Given the description of an element on the screen output the (x, y) to click on. 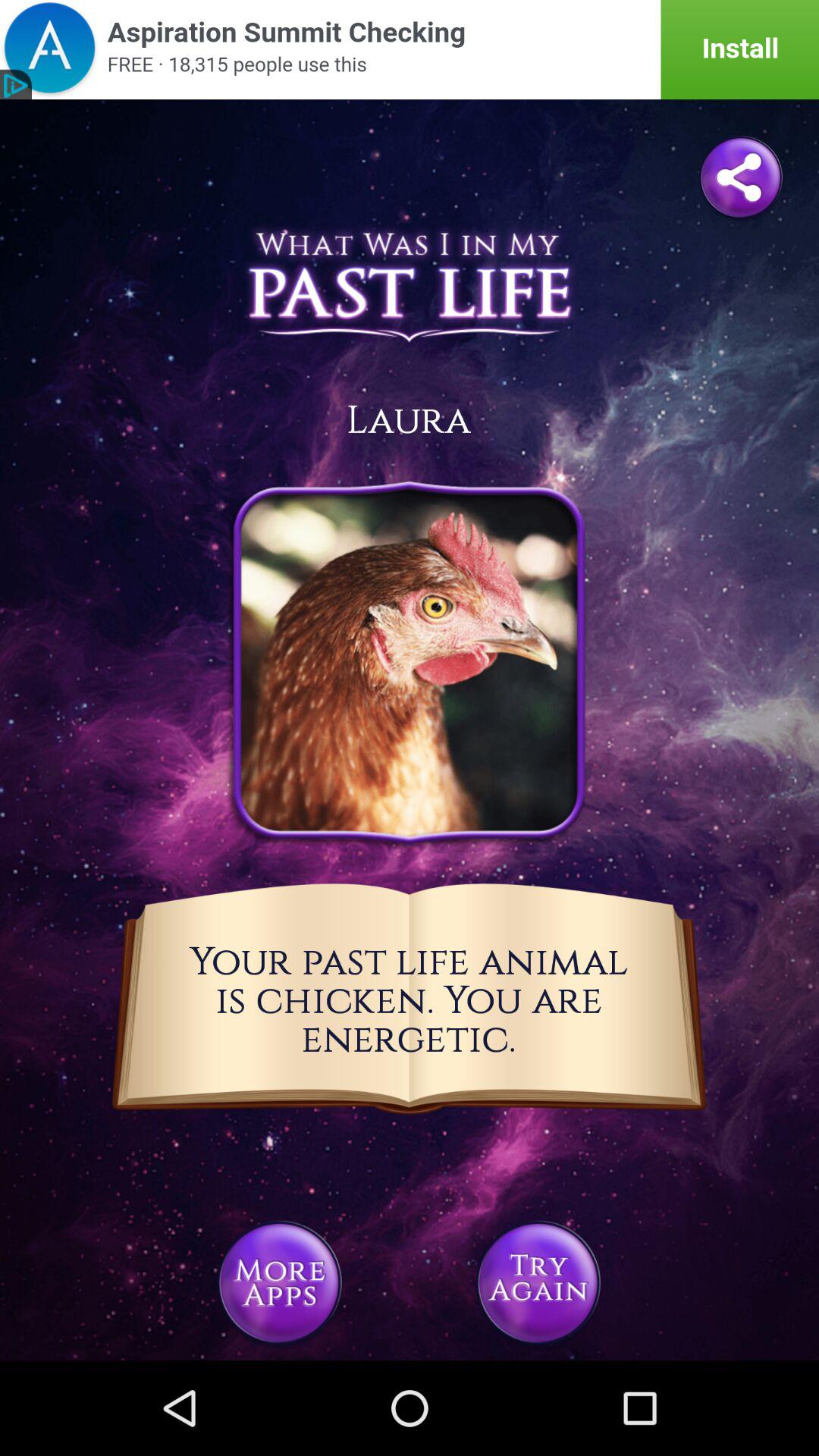
try again option (537, 1282)
